Given the description of an element on the screen output the (x, y) to click on. 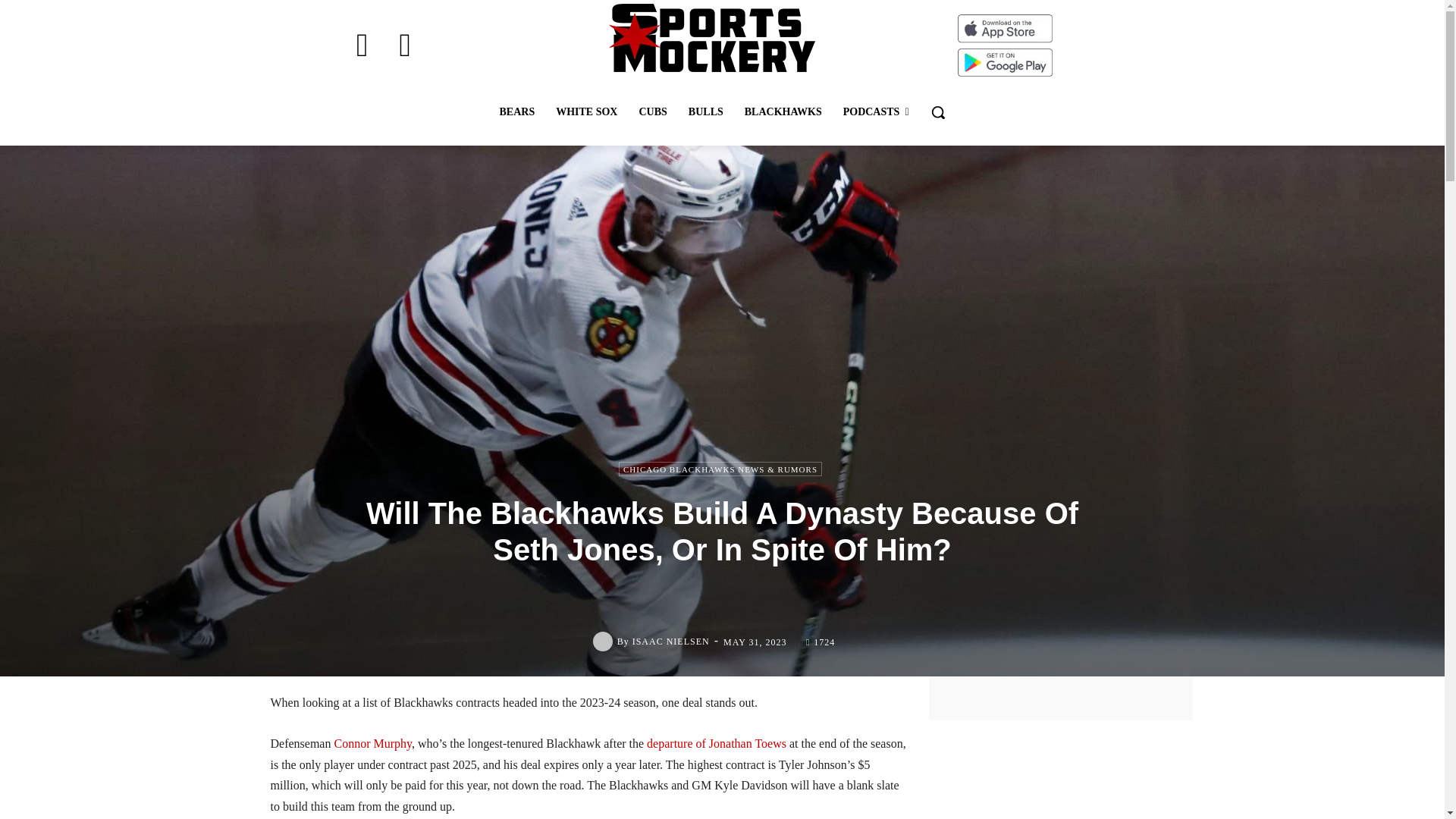
Twitter (405, 45)
Chicago Sports News (711, 38)
Chicago Sports News (711, 38)
WHITE SOX (585, 112)
BEARS (515, 112)
PODCASTS (876, 112)
BLACKHAWKS (782, 112)
CUBS (652, 112)
BULLS (705, 112)
Facebook (361, 45)
